Given the description of an element on the screen output the (x, y) to click on. 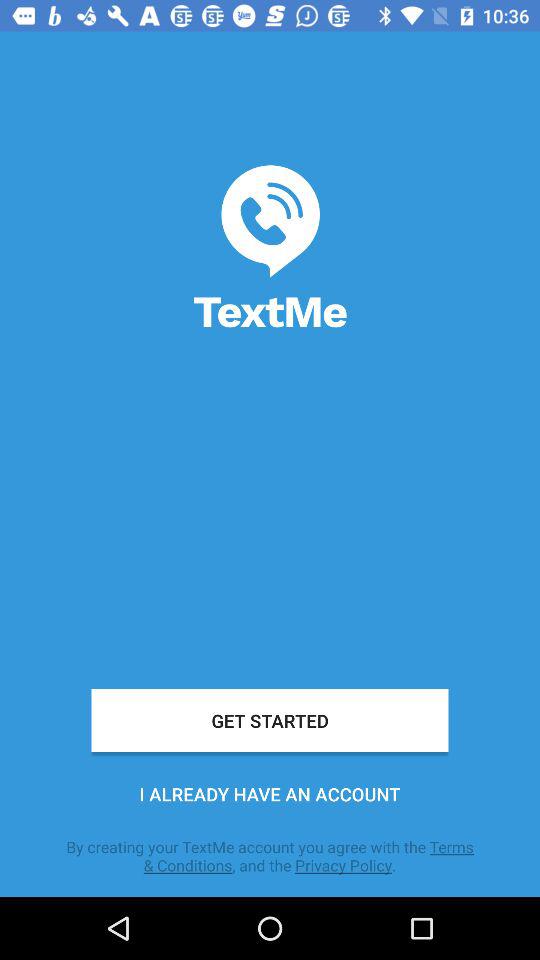
scroll to the i already have icon (269, 793)
